Given the description of an element on the screen output the (x, y) to click on. 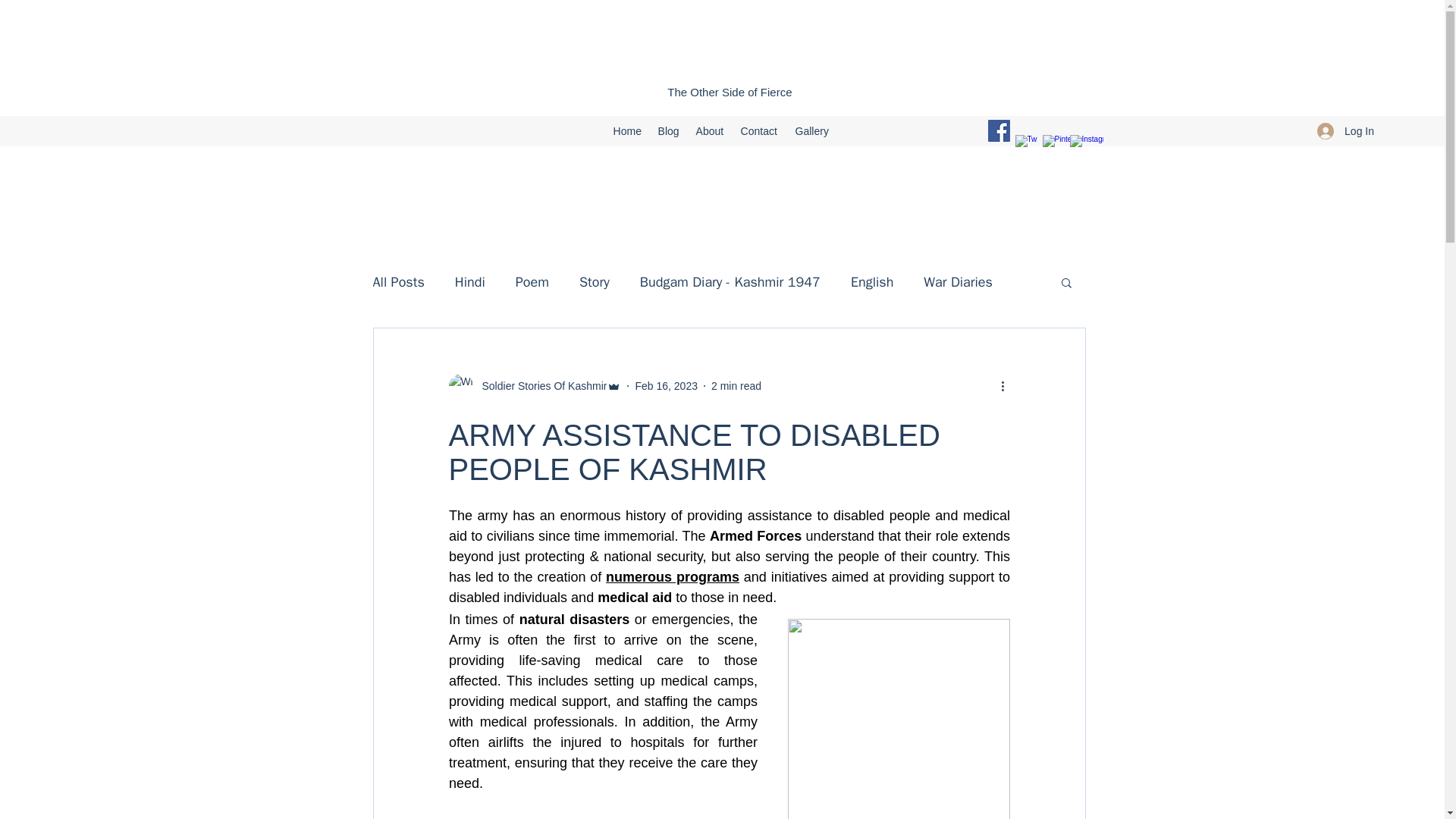
Soldier Stories Of Kashmir (534, 385)
2 min read (736, 386)
English (871, 281)
Gallery (812, 130)
Soldier Stories Of Kashmir (540, 385)
Story (594, 281)
War Diaries (957, 281)
About (710, 130)
All Posts (398, 281)
Budgam Diary - Kashmir 1947 (730, 281)
Home (627, 130)
Blog (669, 130)
Feb 16, 2023 (665, 386)
Poem (531, 281)
Hindi (469, 281)
